Given the description of an element on the screen output the (x, y) to click on. 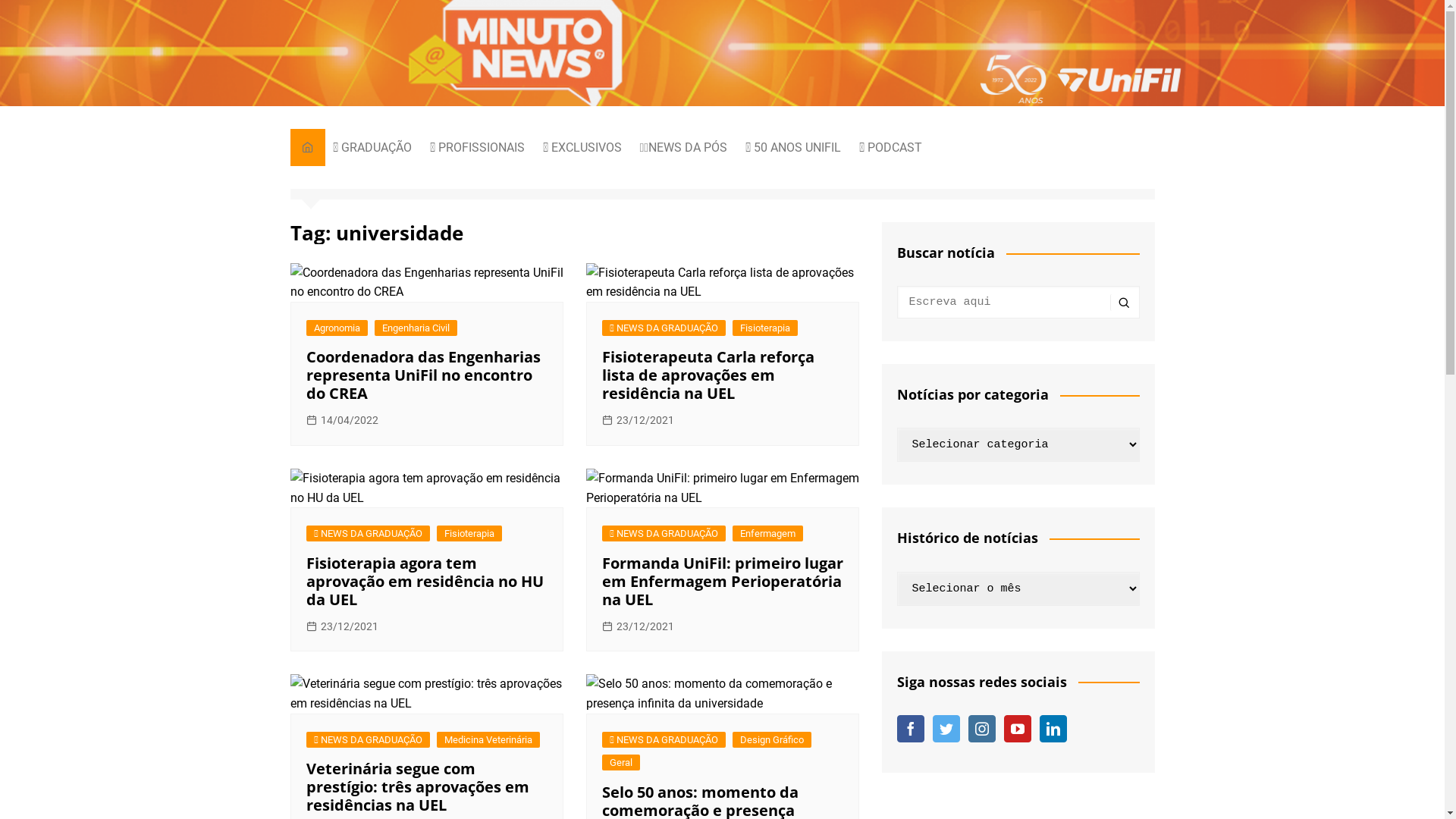
Instagram Element type: hover (980, 728)
23/12/2021 Element type: text (638, 419)
Twitter Element type: hover (946, 728)
Minuto News Element type: text (784, 65)
Engenharia Civil Element type: text (415, 327)
Enfermagem Element type: text (767, 533)
Facebook Element type: hover (909, 728)
LinkedIn Element type: hover (1052, 728)
Fisioterapia Element type: text (764, 327)
14/04/2022 Element type: text (342, 419)
23/12/2021 Element type: text (638, 626)
Agronomia Element type: text (336, 327)
YouTube Element type: hover (1017, 728)
23/12/2021 Element type: text (342, 626)
Fisioterapia Element type: text (469, 533)
Geral Element type: text (621, 762)
